Given the description of an element on the screen output the (x, y) to click on. 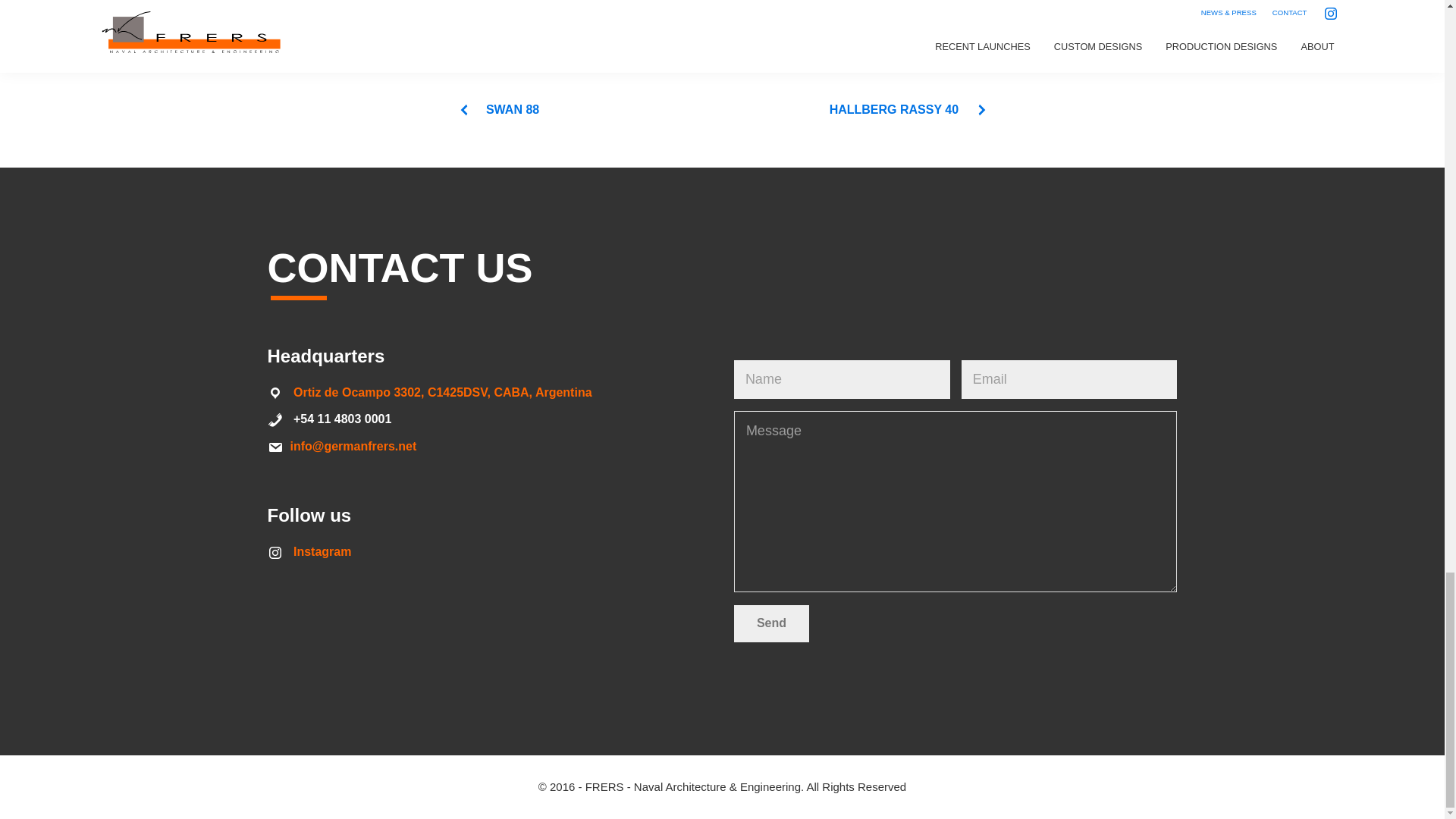
SWAN 88 (498, 109)
HALLBERG RASSY 40 (908, 109)
Send (771, 623)
Ortiz de Ocampo 3302, C1425DSV, CABA, Argentina (443, 391)
Send (771, 623)
Instagram (322, 551)
